Given the description of an element on the screen output the (x, y) to click on. 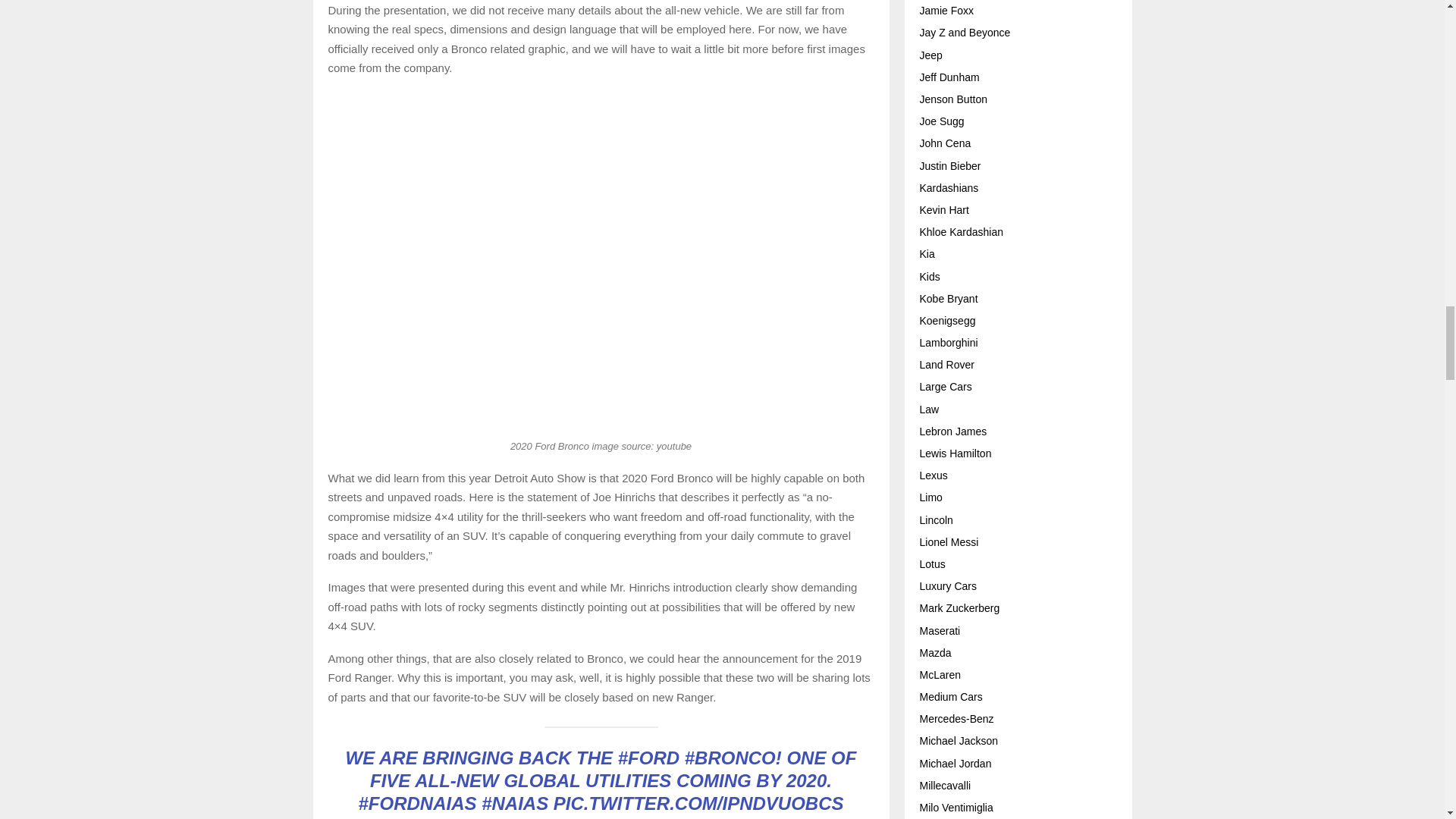
JANUARY 9, 2017 (769, 817)
